Given the description of an element on the screen output the (x, y) to click on. 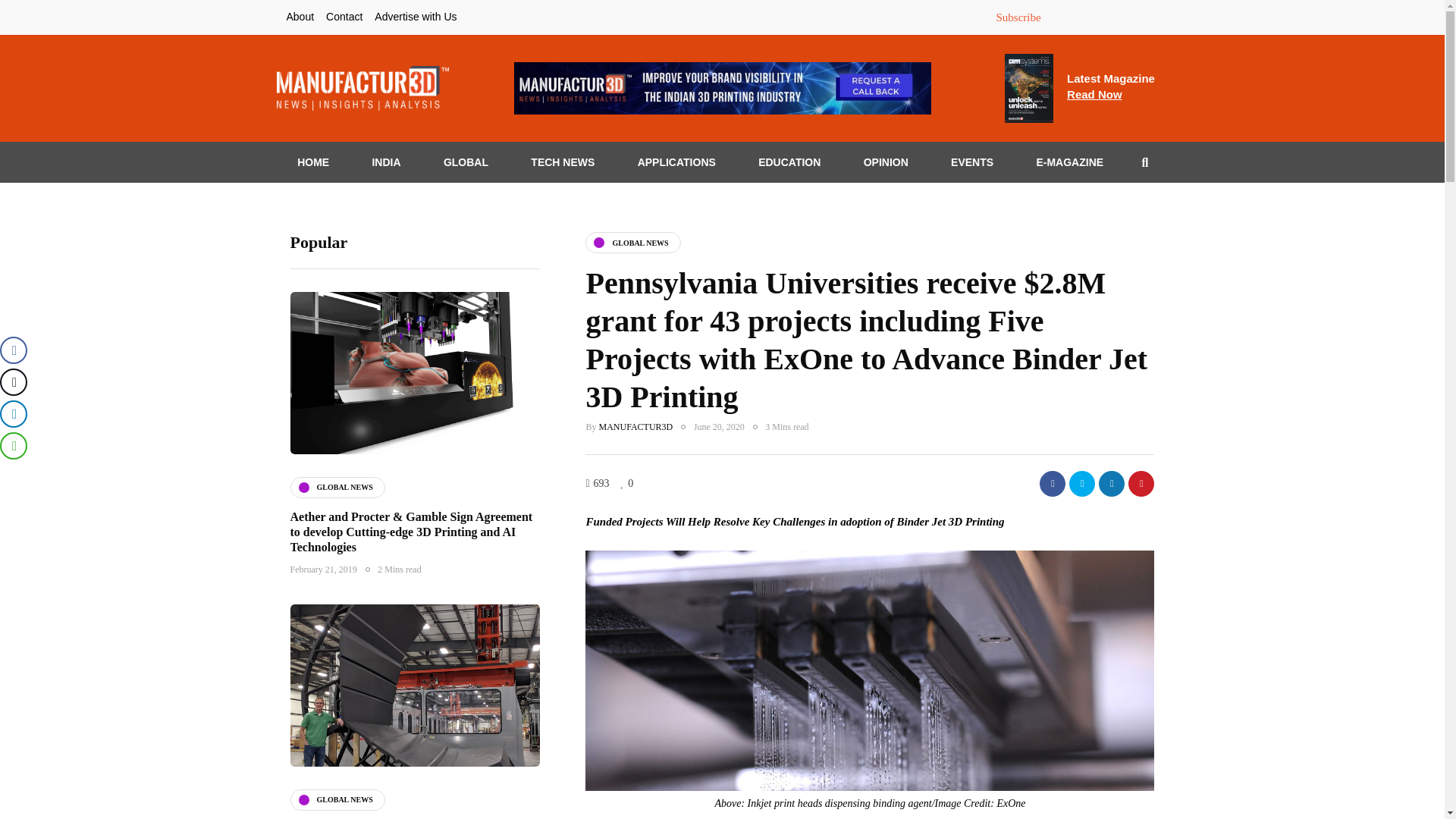
Advertise with Us (1110, 86)
Pin this (415, 16)
Contact (1141, 483)
OPINION (344, 16)
GLOBAL (885, 161)
Tweet this (465, 161)
EVENTS (1081, 483)
EDUCATION (971, 161)
APPLICATIONS (789, 161)
